Given the description of an element on the screen output the (x, y) to click on. 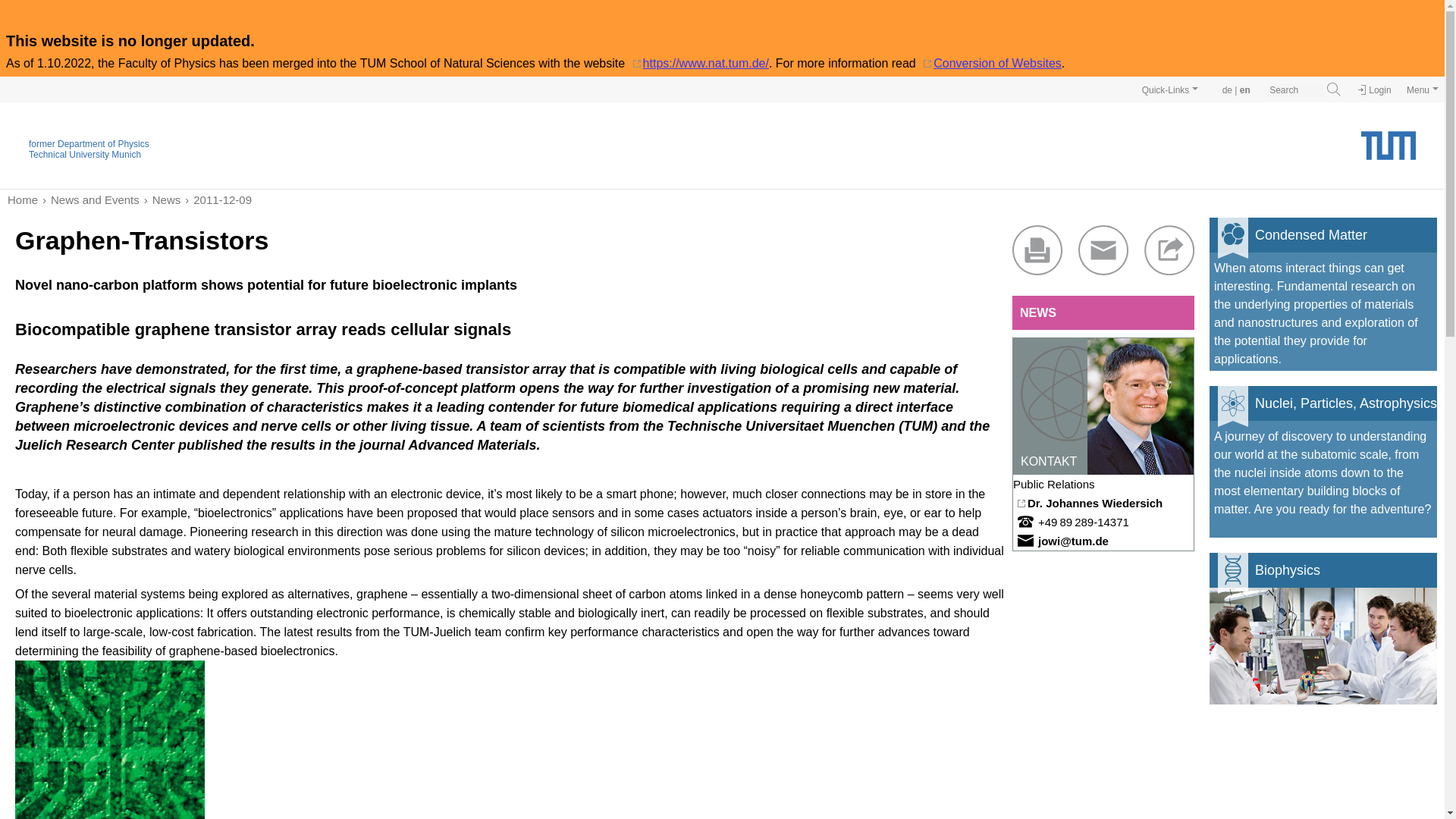
the English language version is displayed (1245, 90)
News from the Physics Department (1102, 312)
Home (22, 199)
Search phrase to find on these webpages (1295, 90)
Search on these webpages (1333, 89)
Conversion of Websites (989, 62)
News (159, 199)
de (1227, 90)
share page in social networks (1168, 250)
NEWS (1102, 312)
